Given the description of an element on the screen output the (x, y) to click on. 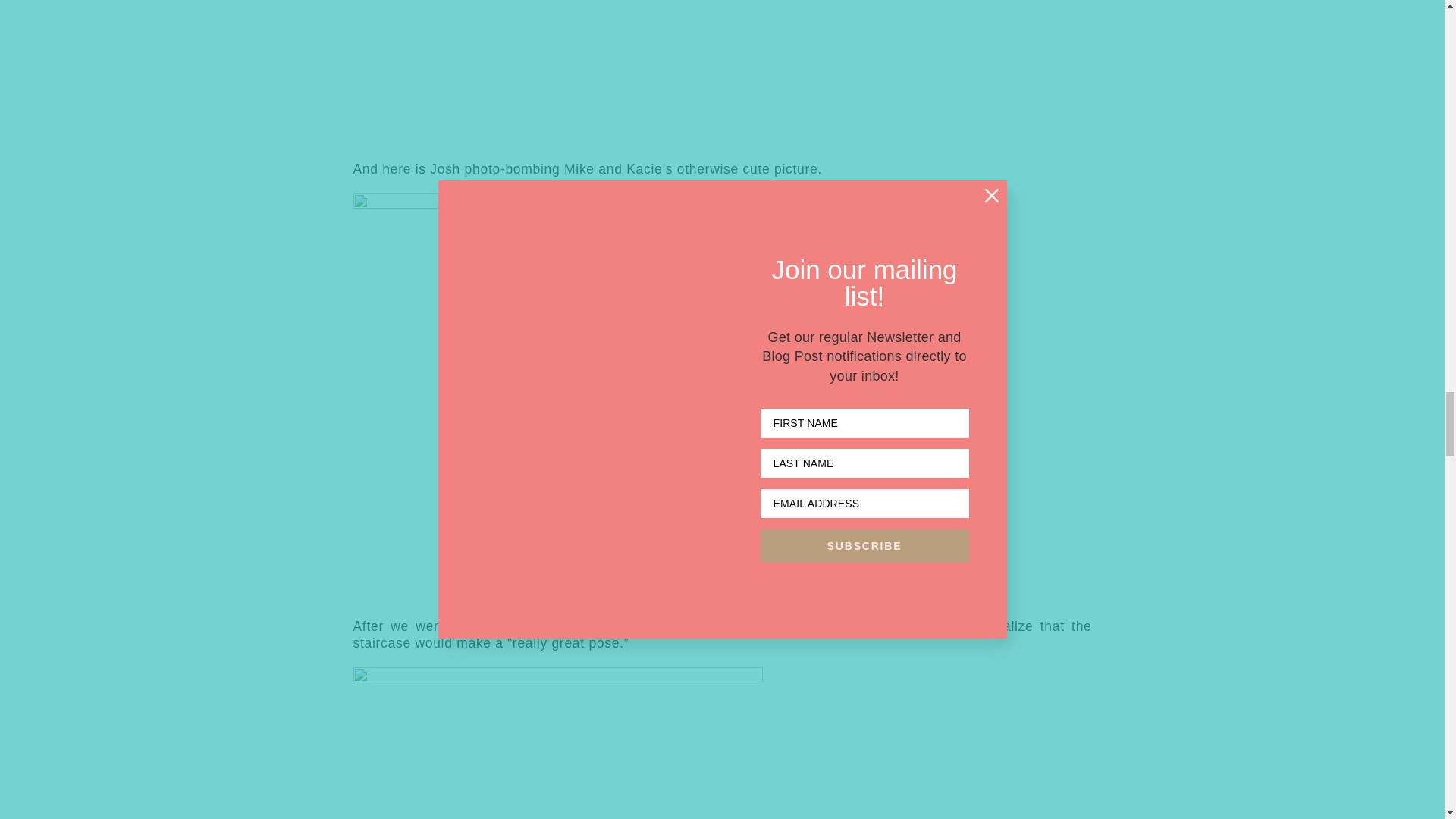
Dining, Ho Chi Minh, Vietnam (557, 743)
Dining, Ho Chi Minh, Vietnam (626, 72)
